Given the description of an element on the screen output the (x, y) to click on. 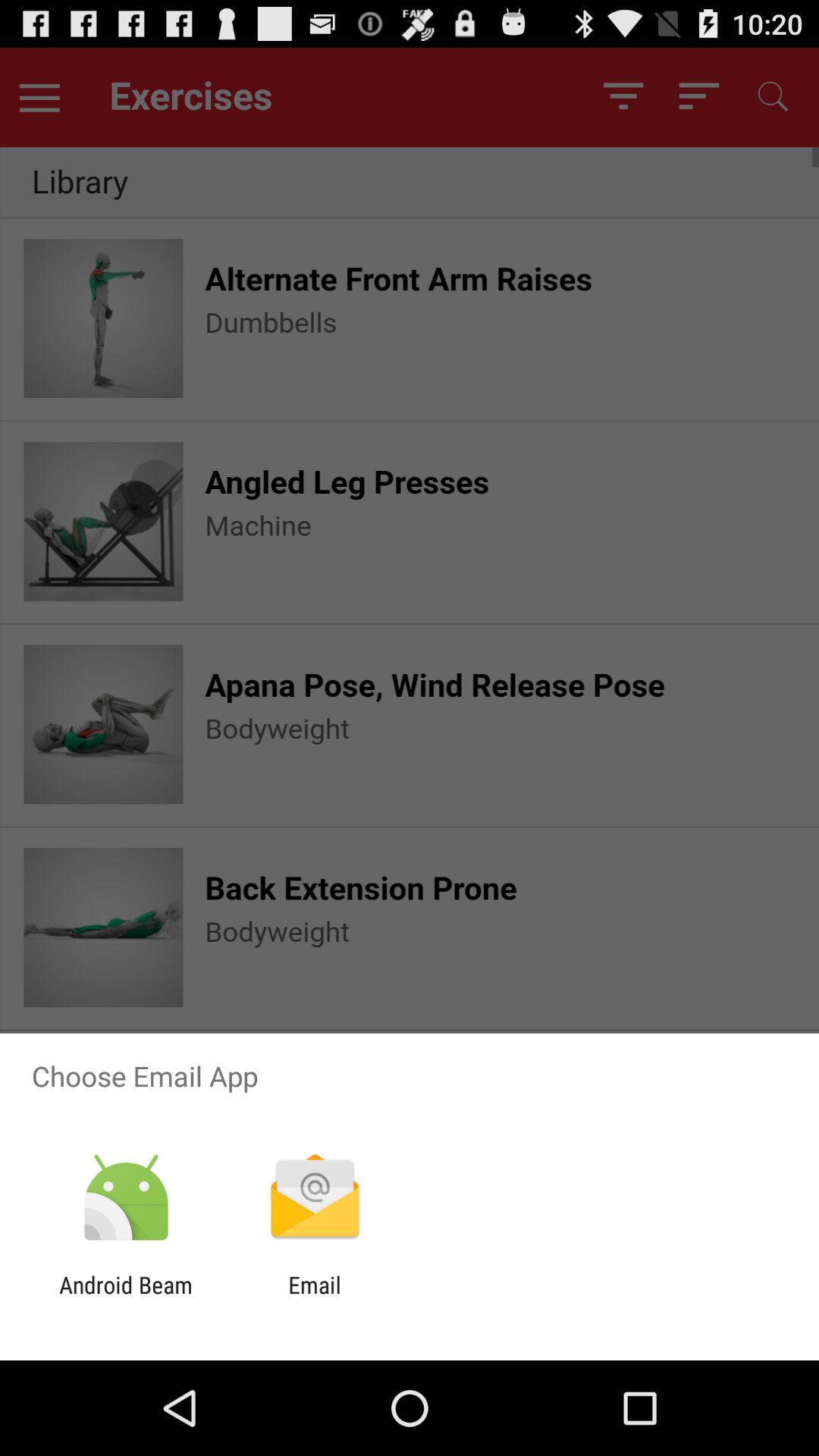
flip to the android beam icon (125, 1298)
